Given the description of an element on the screen output the (x, y) to click on. 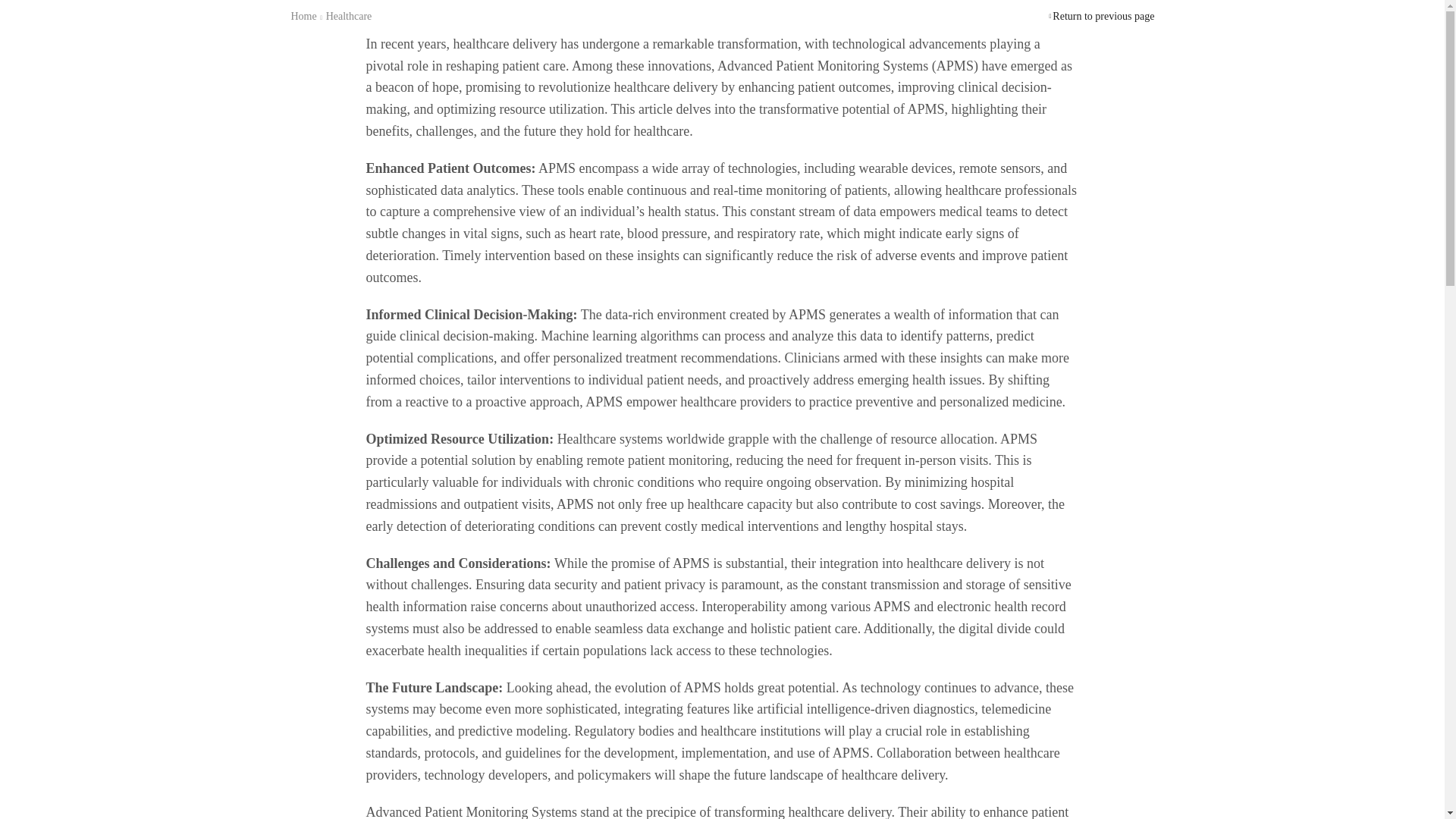
Return to previous page (1103, 16)
Home (303, 16)
Healthcare (348, 16)
